Given the description of an element on the screen output the (x, y) to click on. 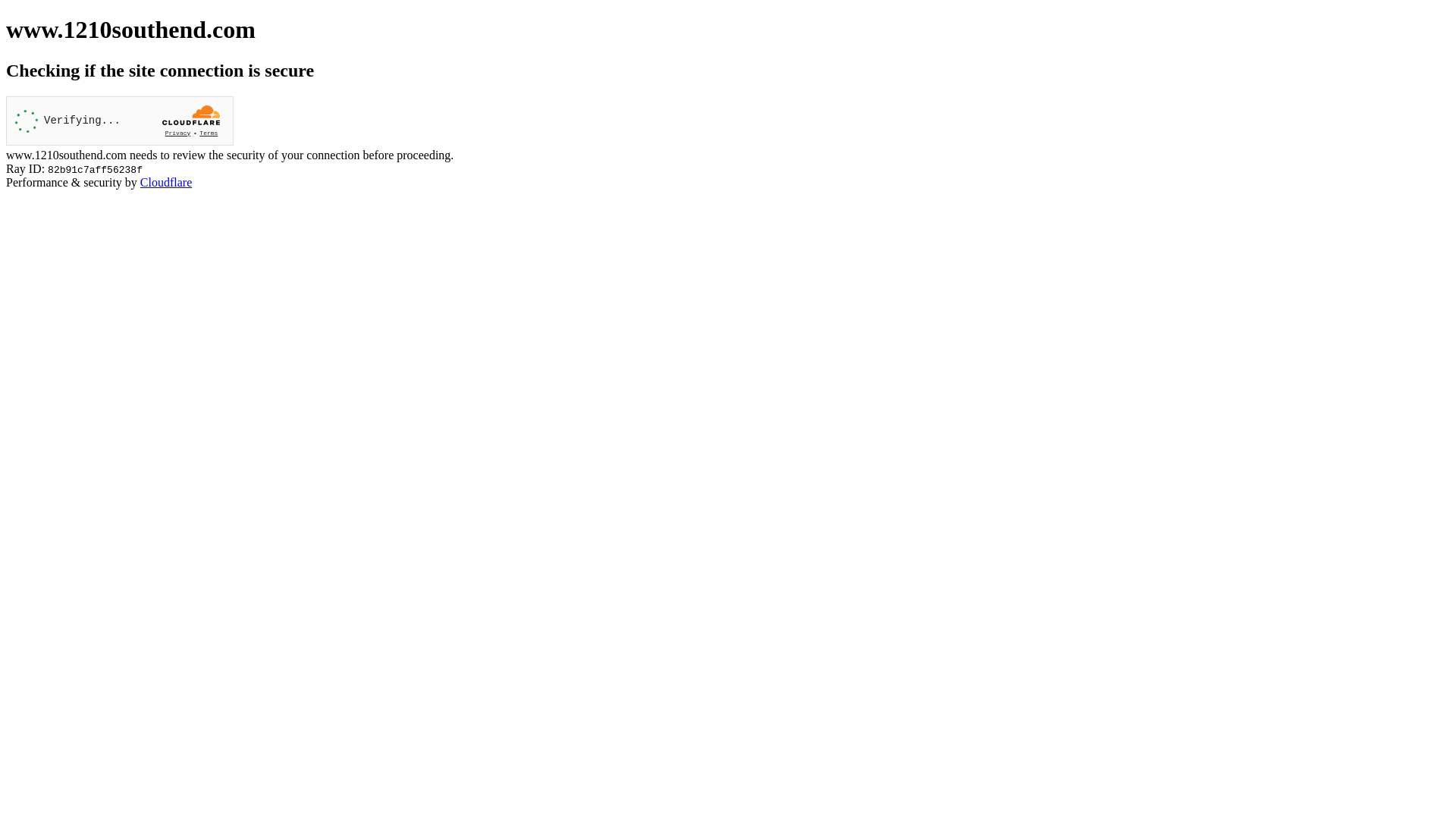
Cloudflare Element type: text (165, 181)
Widget containing a Cloudflare security challenge Element type: hover (119, 120)
